Given the description of an element on the screen output the (x, y) to click on. 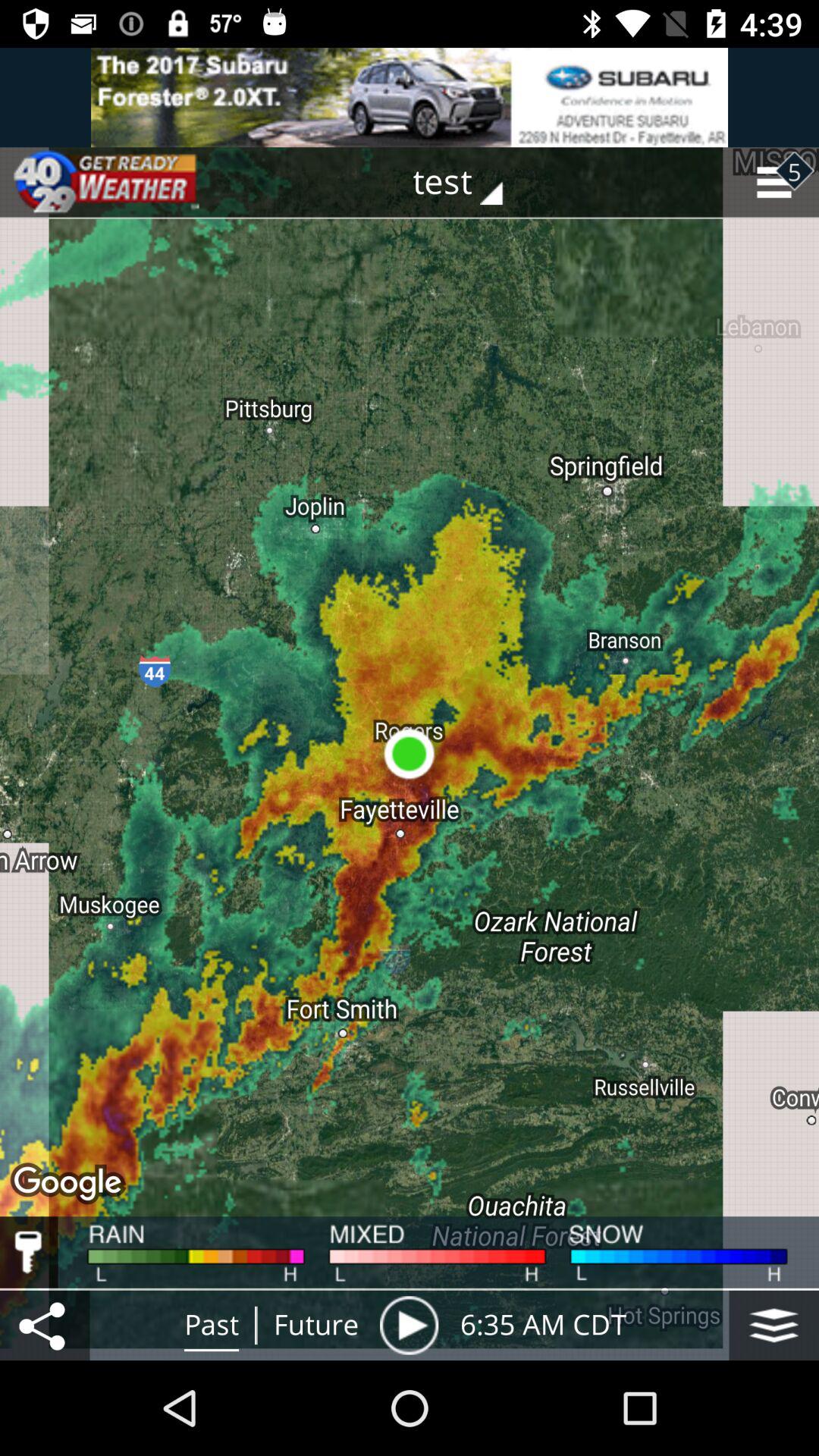
play video (409, 1325)
